Given the description of an element on the screen output the (x, y) to click on. 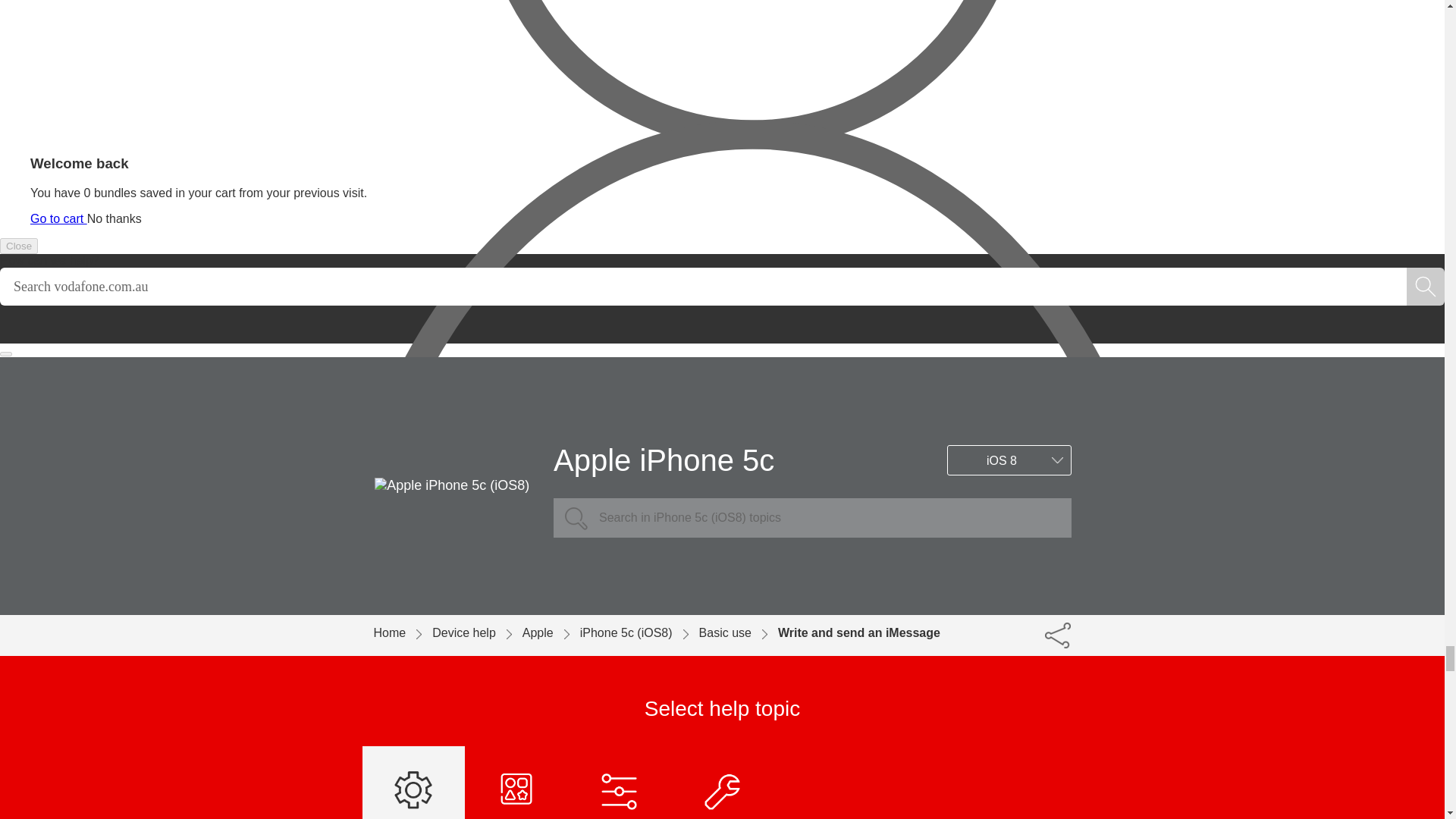
Change settings (619, 782)
Basic use (737, 632)
Write and send an iMessage (858, 632)
Home (402, 632)
Apple (550, 632)
Device help (477, 632)
Specifications (722, 782)
Explore (515, 782)
Basic use (413, 782)
Insert Search word (703, 286)
